Given the description of an element on the screen output the (x, y) to click on. 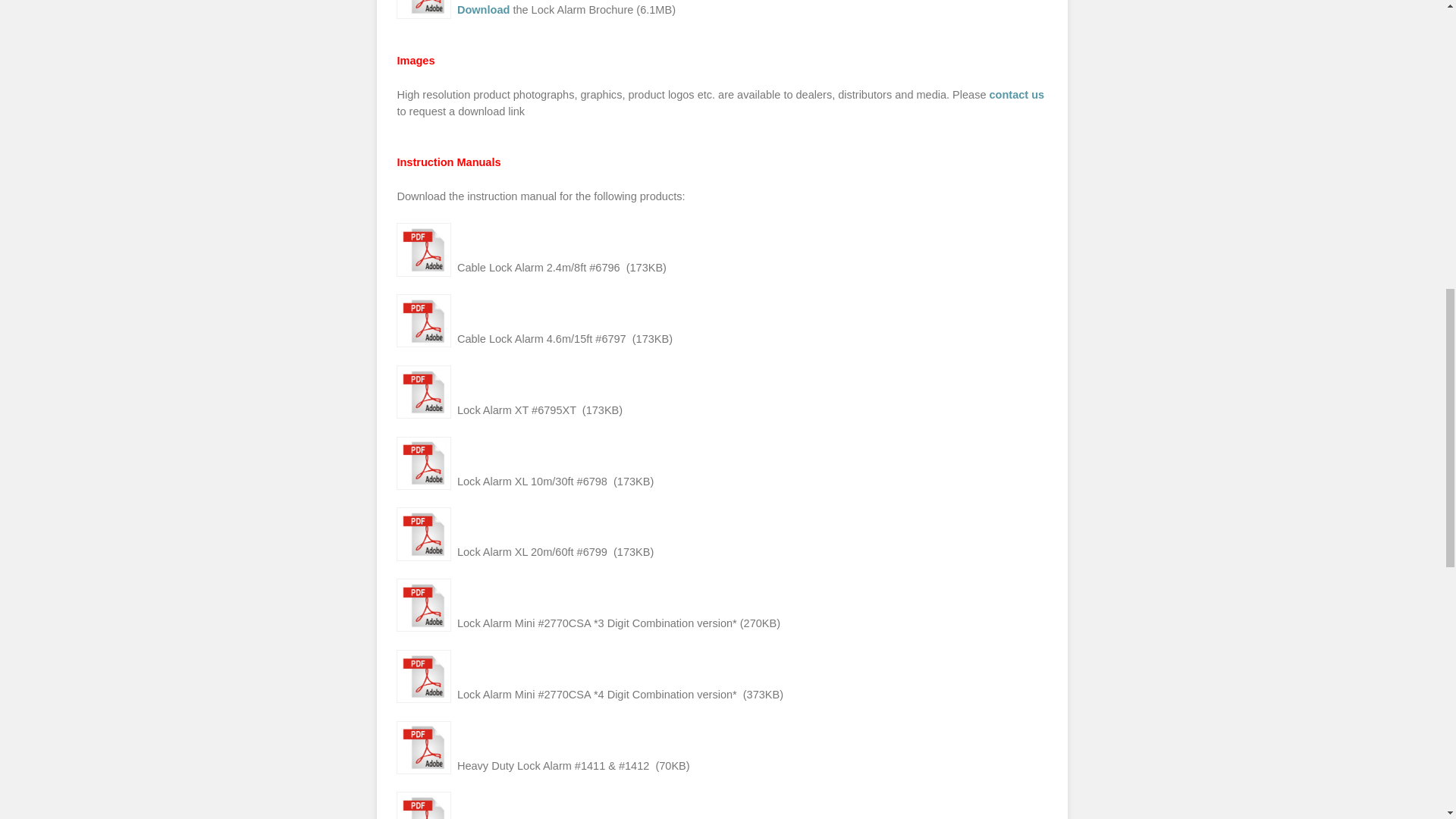
contact us (1017, 94)
PDF (422, 9)
PDF (422, 462)
PDF (422, 249)
Download (483, 9)
Page 2 (721, 103)
PDF (422, 320)
PDF (422, 391)
PDF (422, 533)
